Given the description of an element on the screen output the (x, y) to click on. 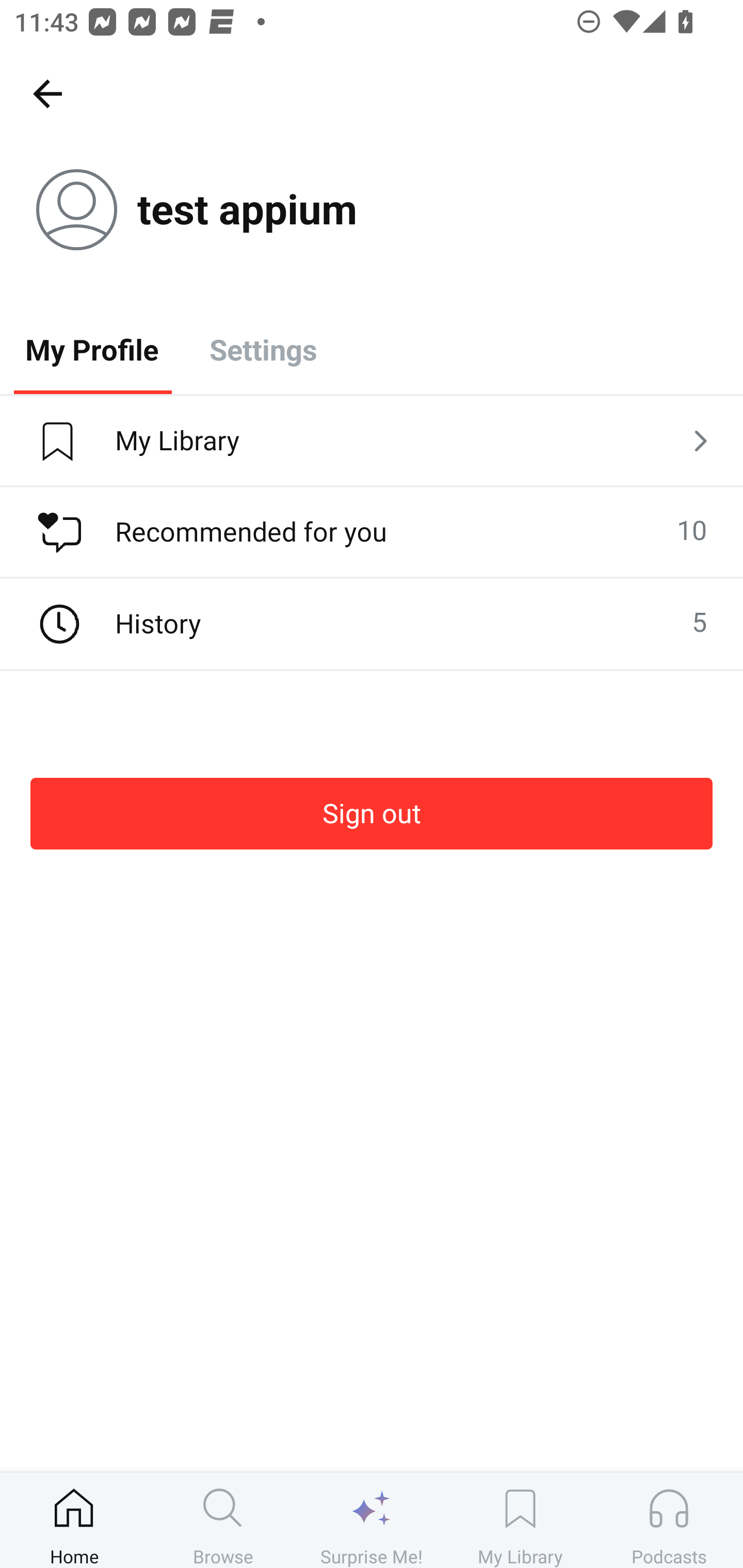
Home, back (47, 92)
My Profile (92, 348)
Settings (263, 348)
My Library (371, 441)
Recommended for you 10 (371, 532)
History 5 (371, 623)
Sign out (371, 813)
Home (74, 1520)
Browse (222, 1520)
Surprise Me! (371, 1520)
My Library (519, 1520)
Podcasts (668, 1520)
